Given the description of an element on the screen output the (x, y) to click on. 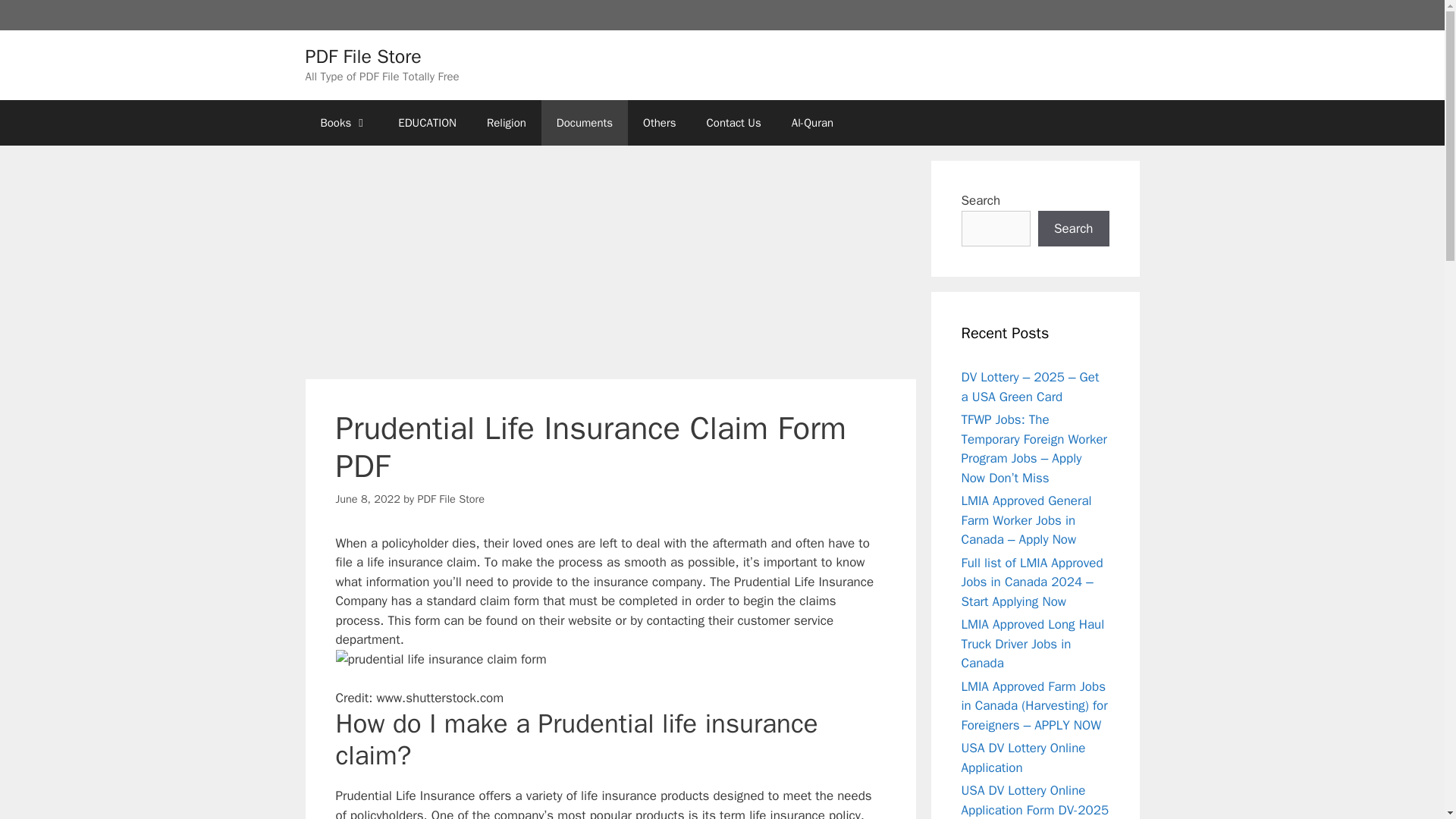
PDF File Store (450, 499)
Documents (584, 122)
Advertisement (609, 266)
EDUCATION (426, 122)
View all posts by PDF File Store (450, 499)
Others (658, 122)
LMIA Approved Long Haul Truck Driver Jobs in Canada (1032, 643)
Search (1073, 228)
Books (343, 122)
Religion (506, 122)
Contact Us (733, 122)
Al-Quran (812, 122)
PDF File Store (362, 55)
USA DV Lottery Online Application (1023, 757)
